Given the description of an element on the screen output the (x, y) to click on. 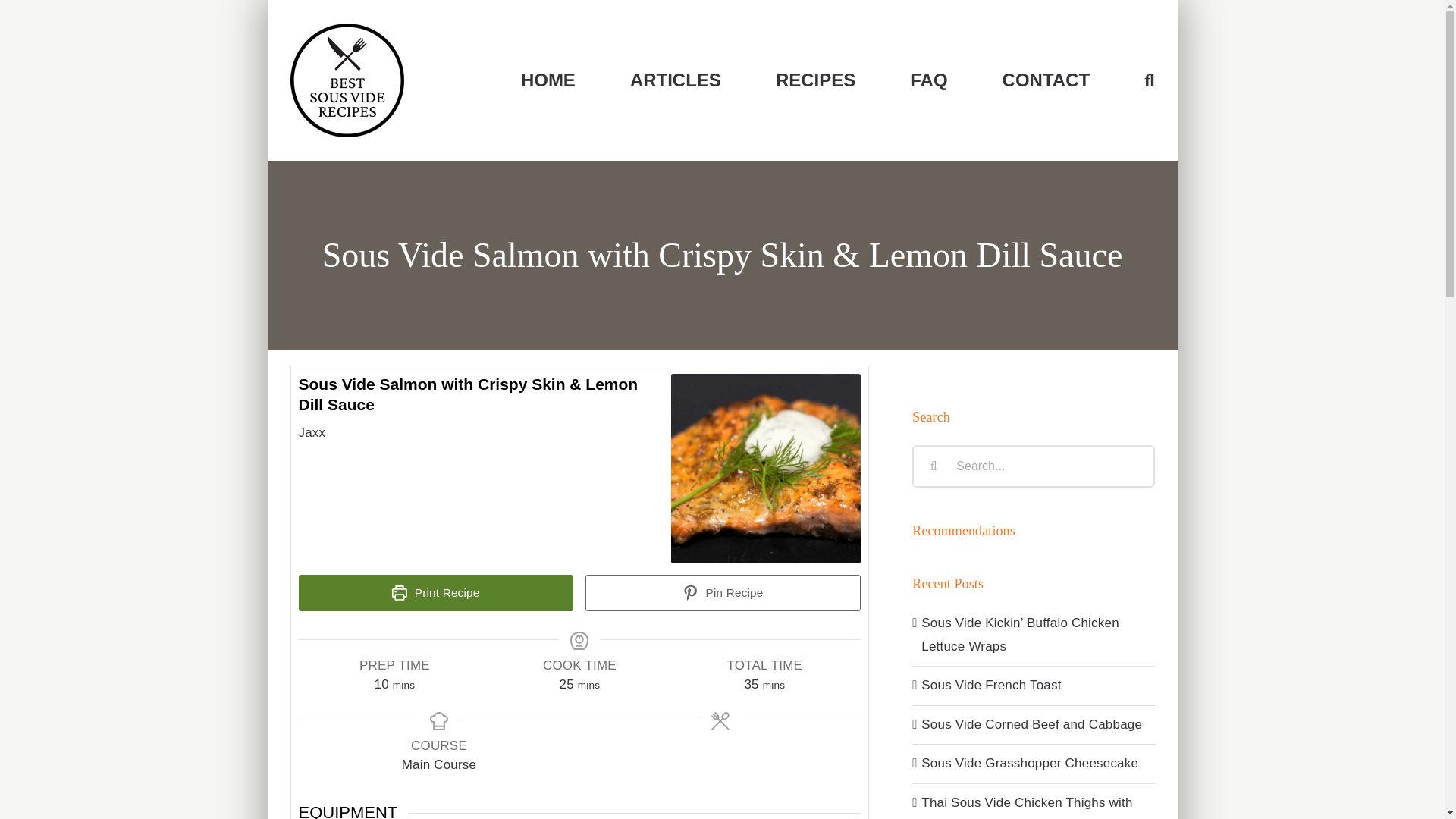
Pin Recipe (722, 592)
Print Recipe (435, 592)
